Given the description of an element on the screen output the (x, y) to click on. 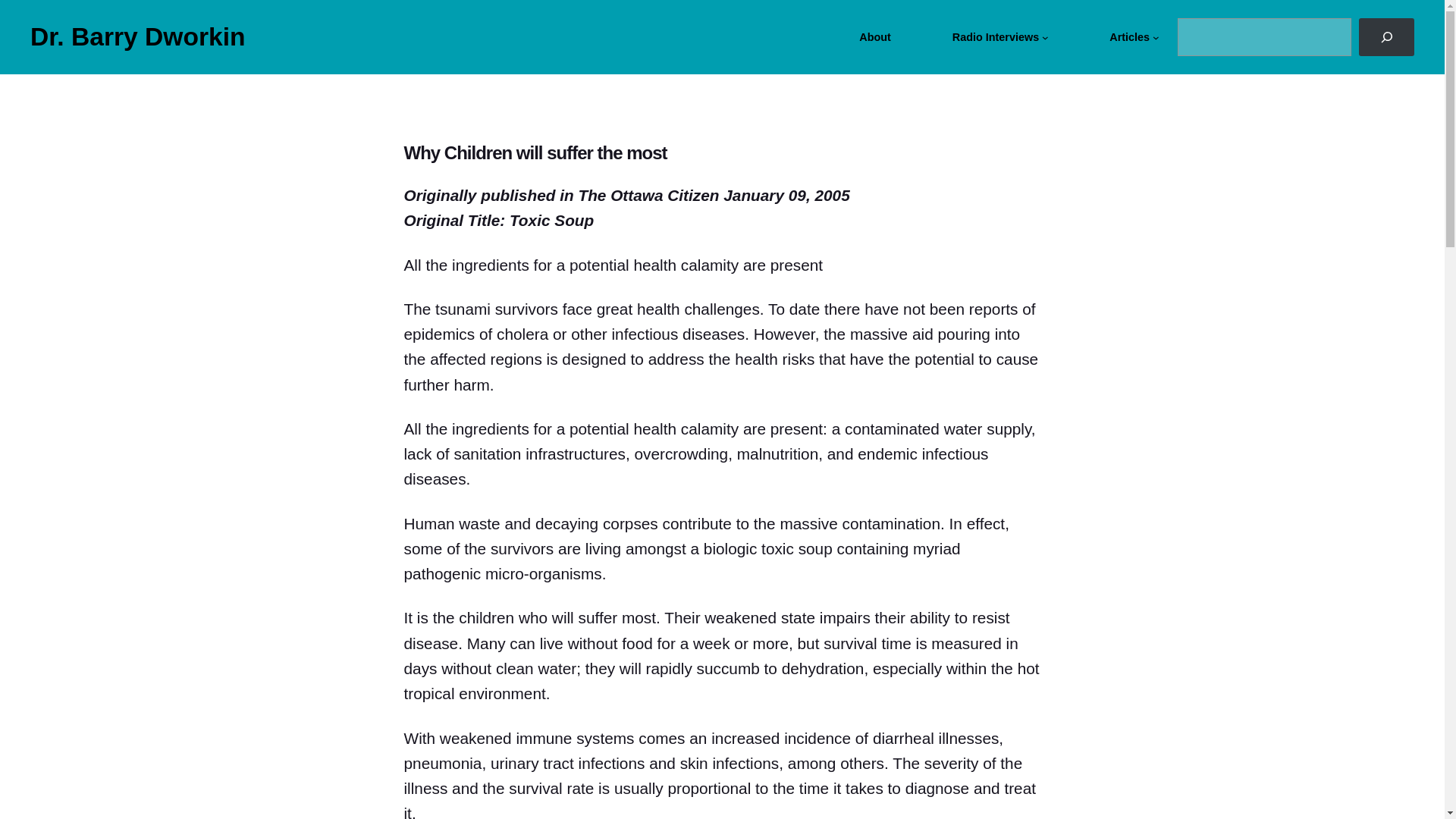
Dr. Barry Dworkin (138, 36)
About (875, 36)
Articles (1129, 36)
Radio Interviews (995, 36)
